Given the description of an element on the screen output the (x, y) to click on. 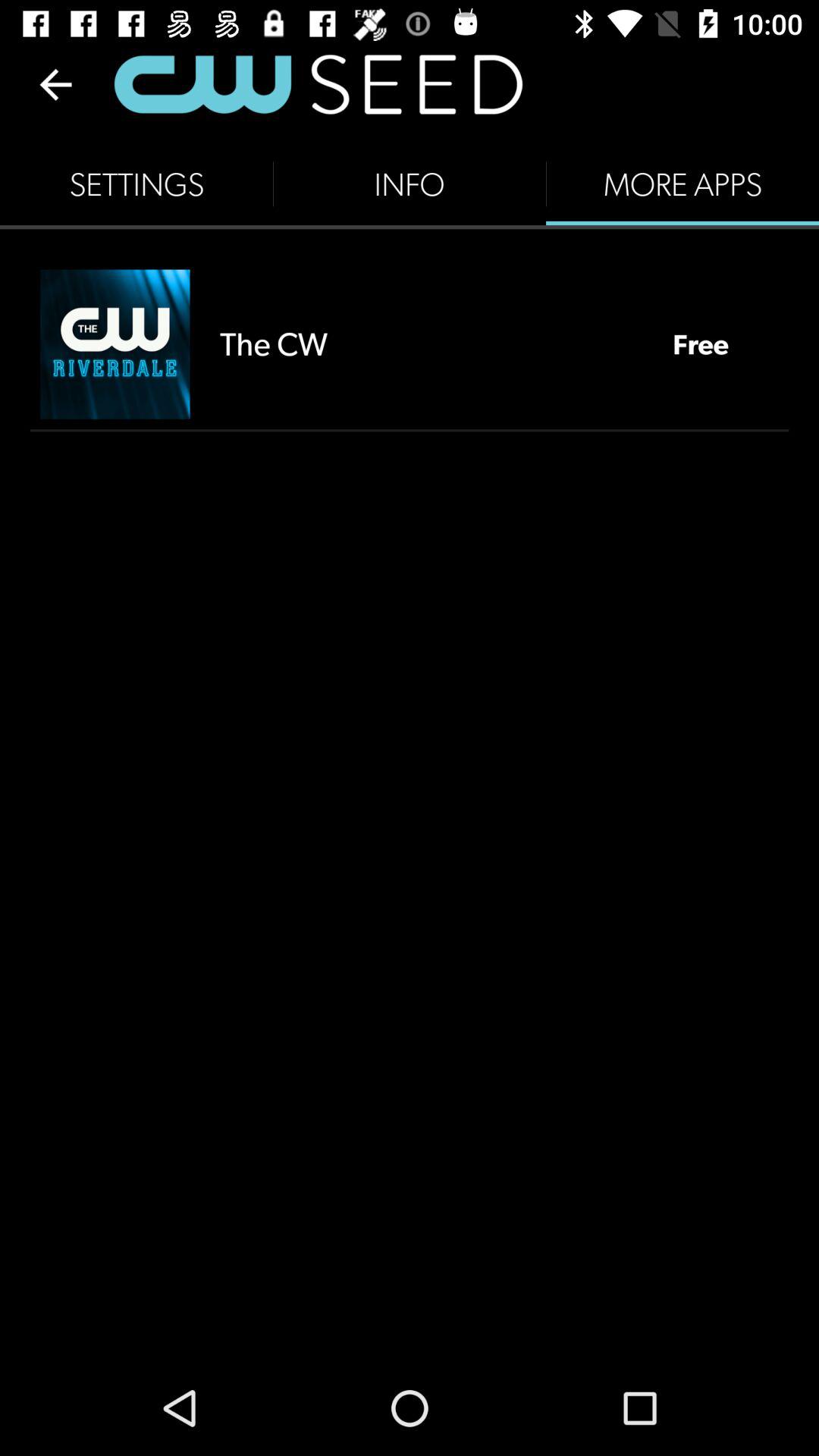
click icon next to info icon (682, 184)
